Given the description of an element on the screen output the (x, y) to click on. 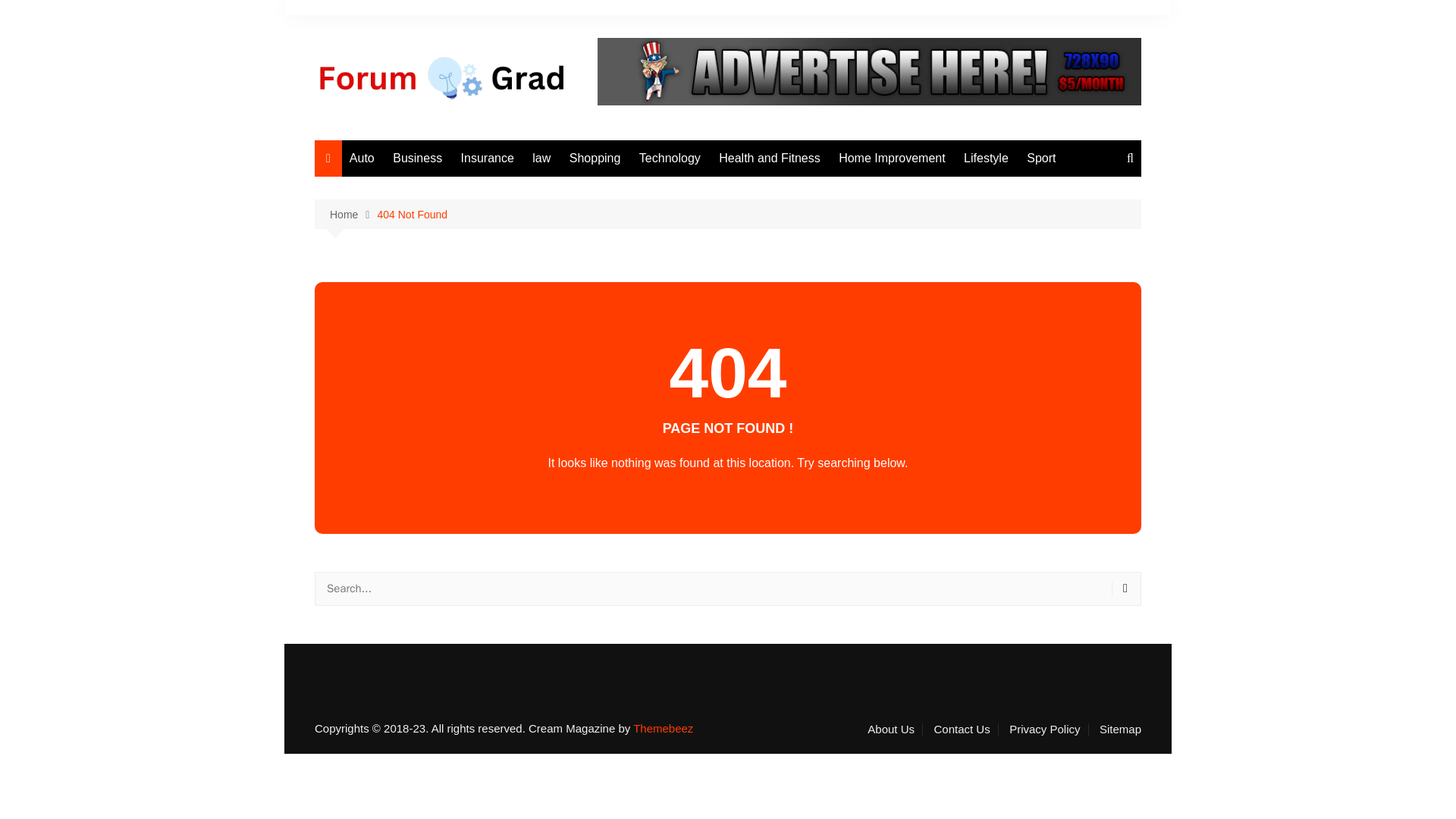
Business (417, 158)
About Us (895, 729)
Insurance (486, 158)
Technology (669, 158)
Lifestyle (986, 158)
Themebeez (663, 727)
404 Not Found (411, 214)
law (540, 158)
Home (353, 214)
Contact Us (965, 729)
